Given the description of an element on the screen output the (x, y) to click on. 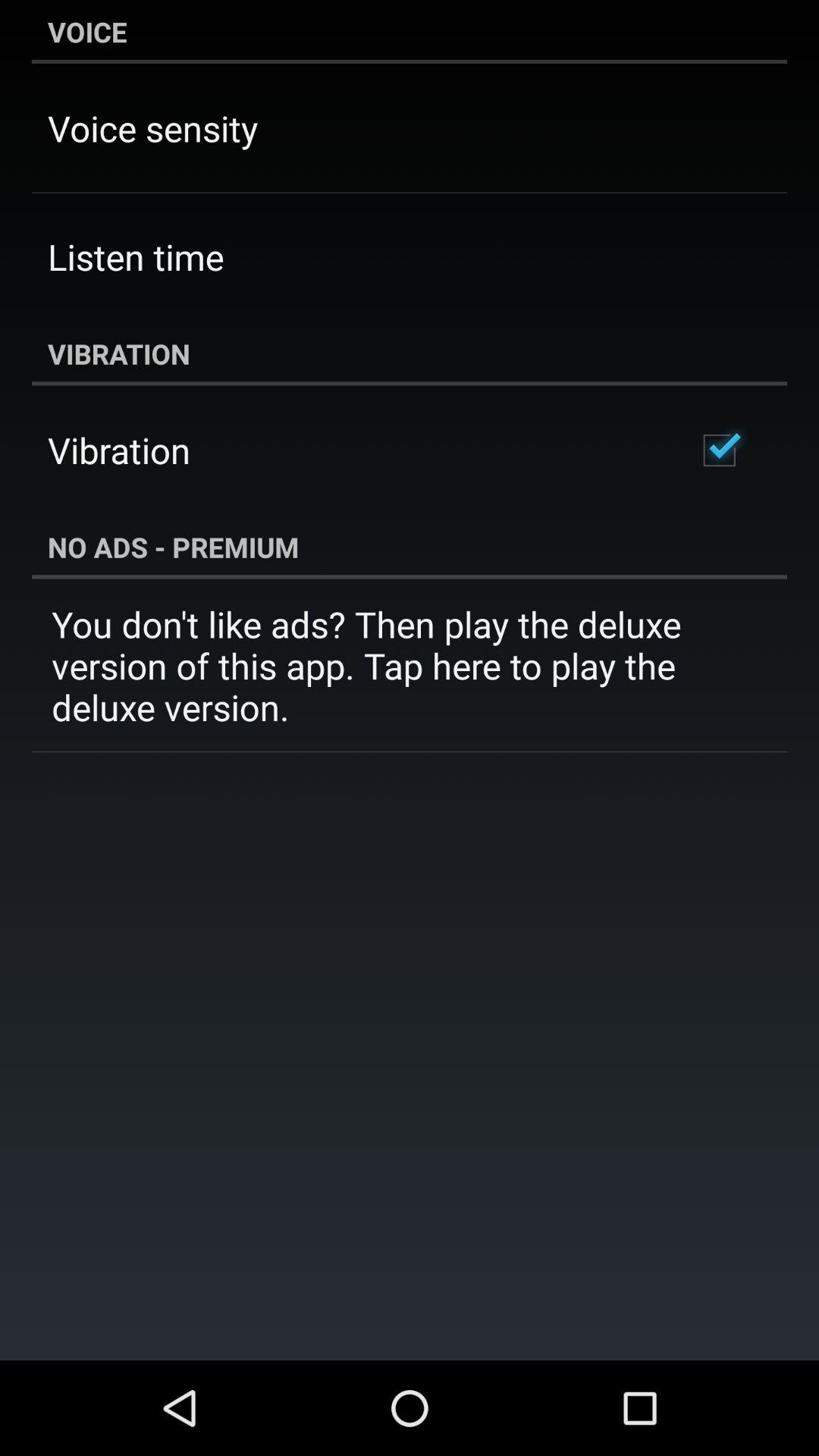
scroll until the voice sensity (152, 128)
